Given the description of an element on the screen output the (x, y) to click on. 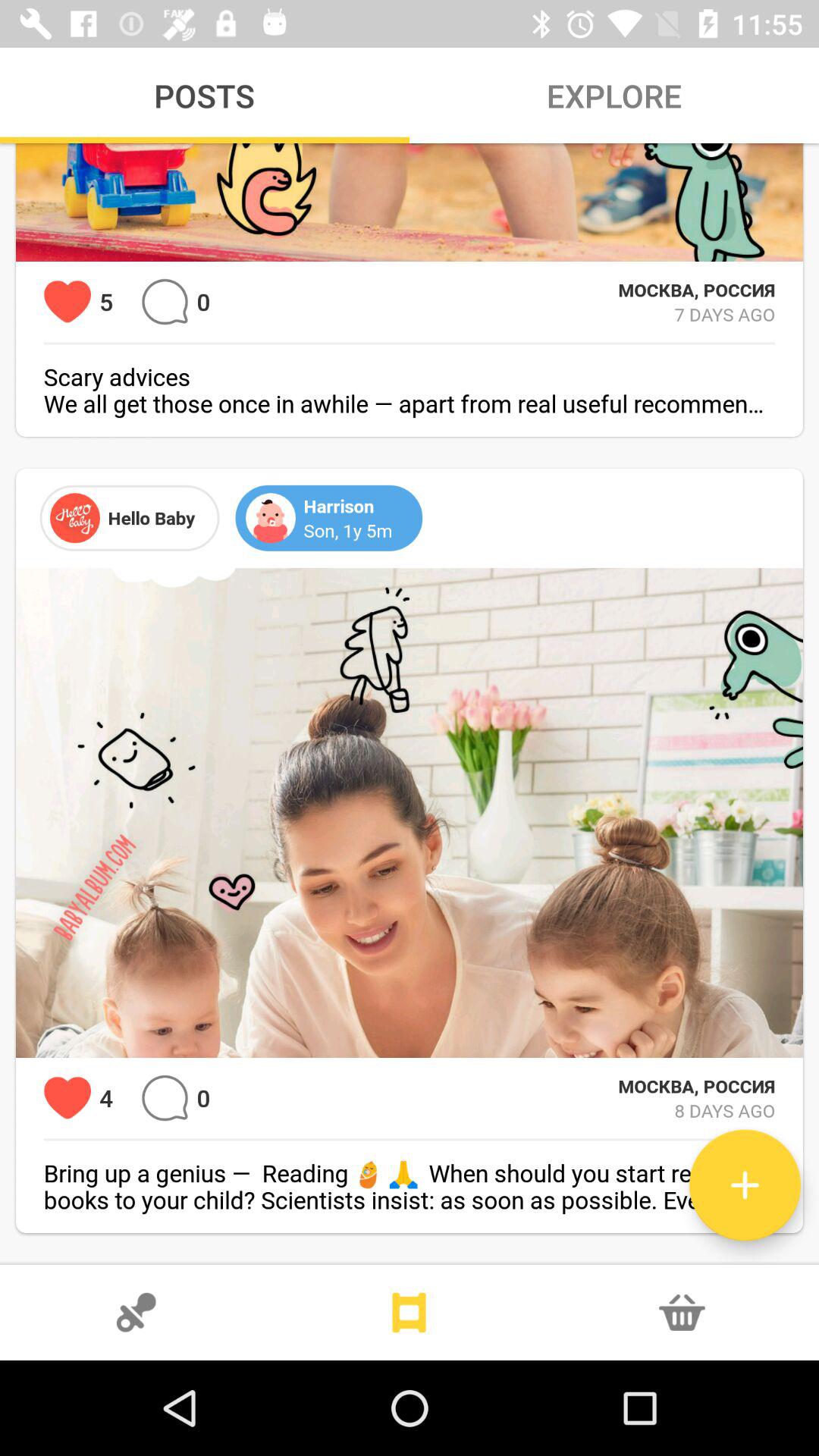
make a comment (164, 1098)
